Given the description of an element on the screen output the (x, y) to click on. 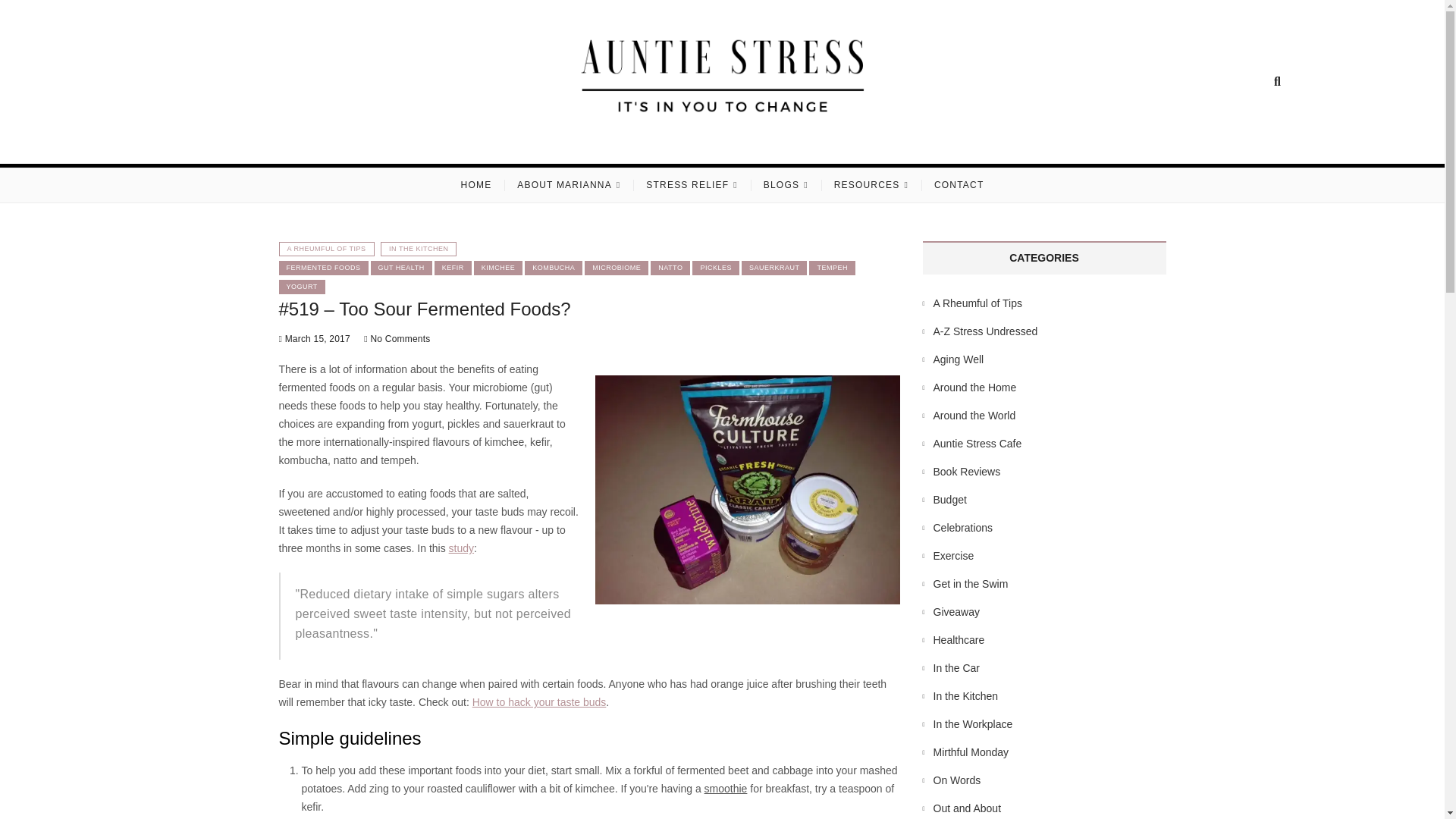
ABOUT MARIANNA (568, 185)
March 15, 2017 (314, 338)
GUT HEALTH (401, 268)
FERMENTED FOODS (323, 268)
Auntie Stress (429, 143)
KOMBUCHA (553, 268)
MICROBIOME (616, 268)
RESOURCES (871, 185)
TEMPEH (832, 268)
March 15, 2017 (314, 338)
YOGURT (301, 287)
HOME (476, 185)
Auntie Stress (429, 143)
KEFIR (452, 268)
IN THE KITCHEN (418, 248)
